Given the description of an element on the screen output the (x, y) to click on. 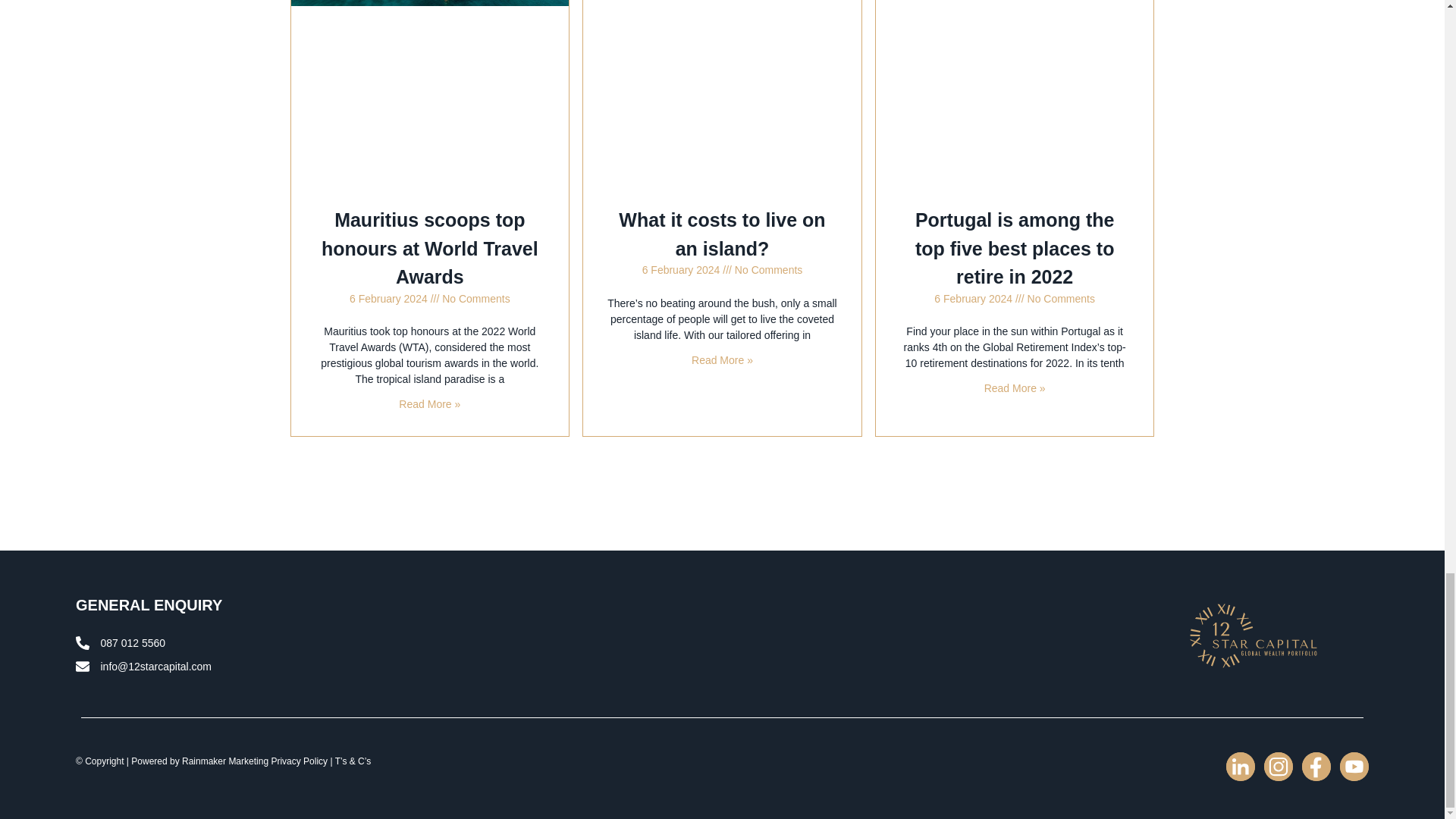
Privacy Policy (298, 760)
Portugal is among the top five best places to retire in 2022 (1015, 248)
What it costs to live on an island? (721, 234)
Mauritius scoops top honours at World Travel Awards (429, 248)
